Given the description of an element on the screen output the (x, y) to click on. 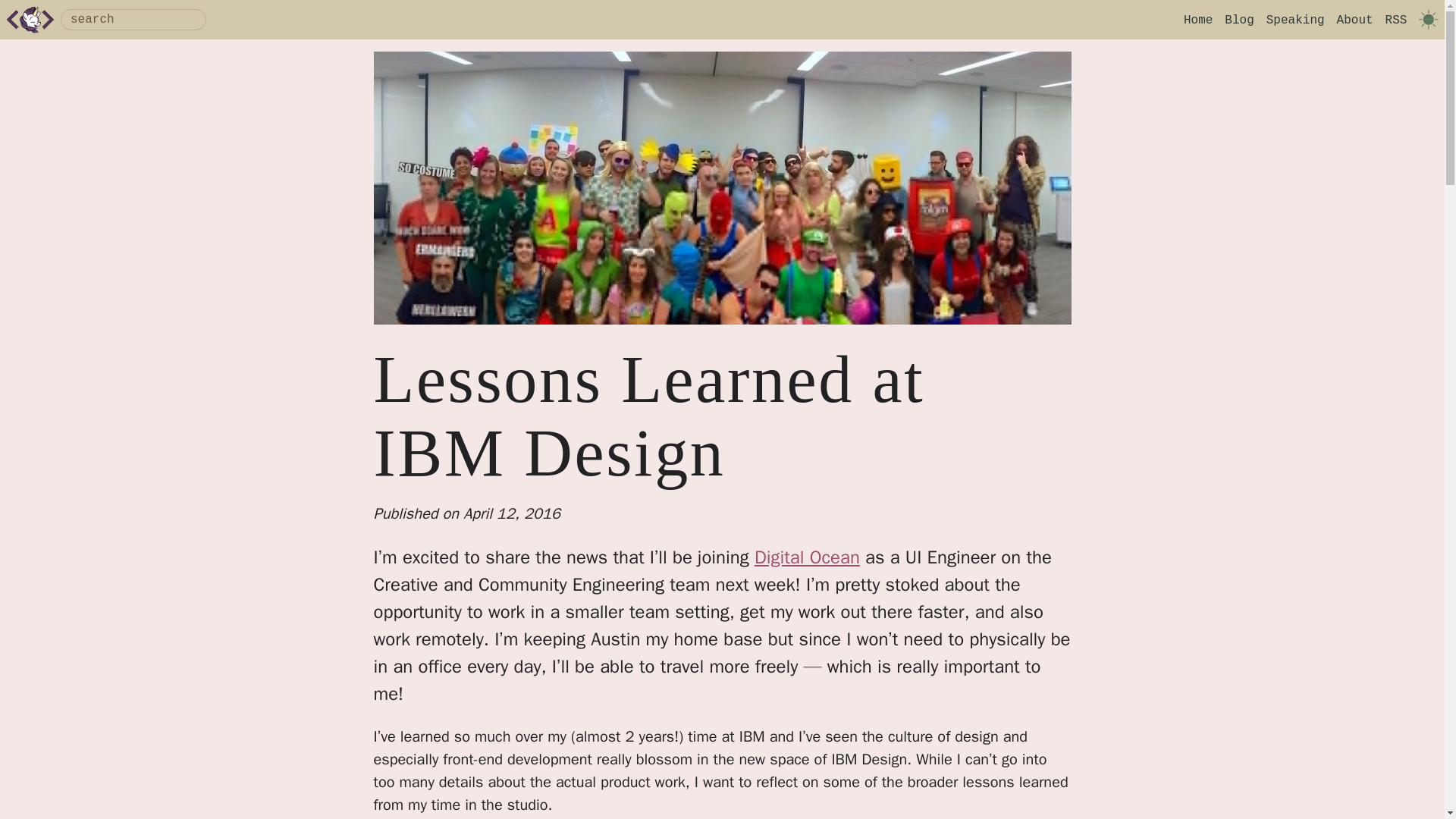
Home (1197, 20)
Page theme toggle (1428, 19)
Blog (1238, 20)
RSS (1396, 20)
Home (30, 19)
About (1354, 20)
Digital Ocean (807, 557)
Speaking (1295, 20)
